Given the description of an element on the screen output the (x, y) to click on. 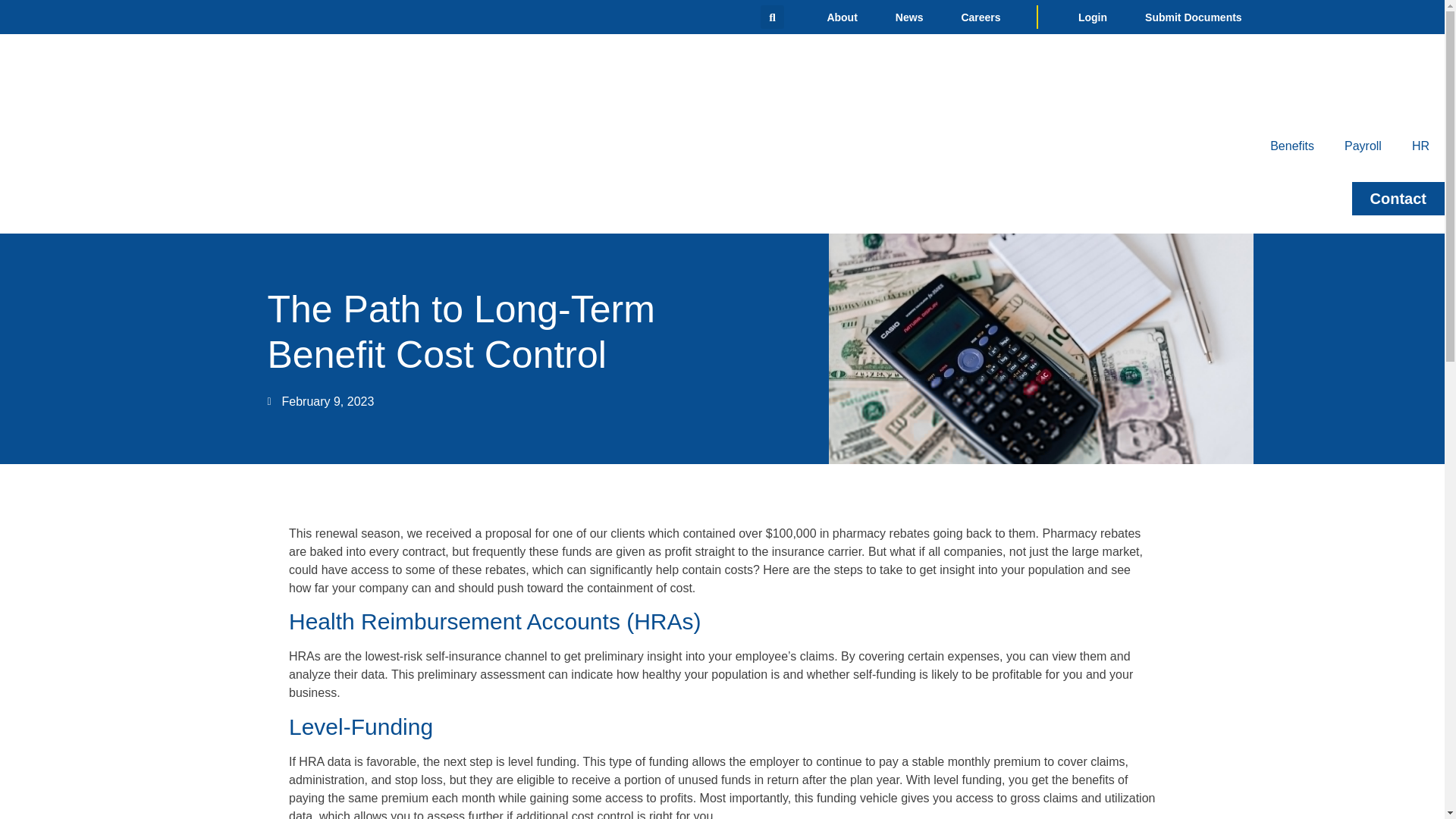
Submit Documents (1192, 16)
Careers (980, 16)
News (909, 16)
Careers (980, 16)
February 9, 2023 (320, 402)
Payroll Services (1362, 145)
Payroll (1362, 145)
Benefits (1292, 145)
Employee Benefits (1292, 145)
About (842, 16)
